Given the description of an element on the screen output the (x, y) to click on. 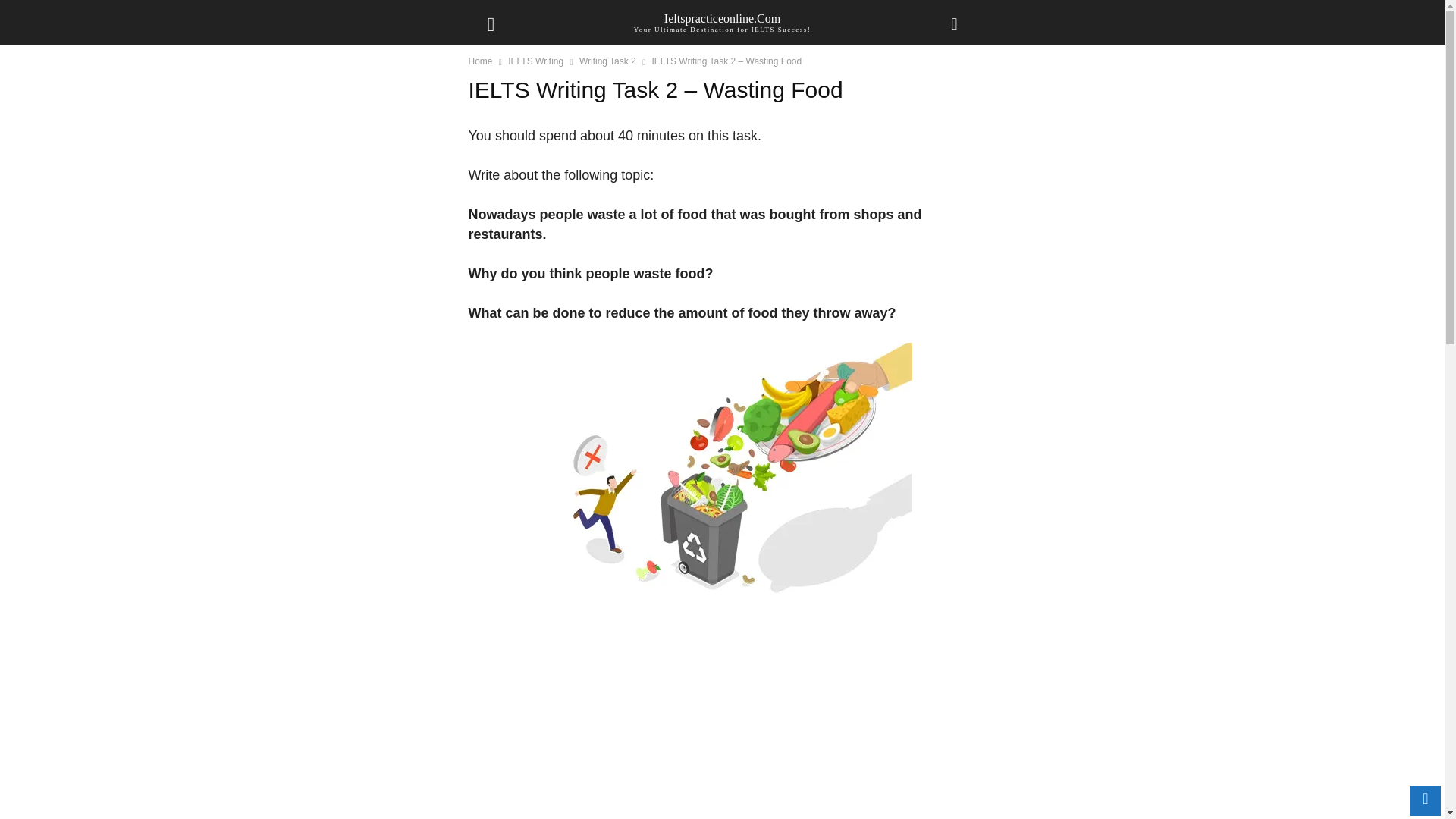
Writing Task 2 (607, 61)
IELTS Writing (535, 61)
View all posts in Writing Task 2 (607, 61)
Home (480, 61)
View all posts in IELTS Writing (535, 61)
3rd party ad content (722, 718)
